Given the description of an element on the screen output the (x, y) to click on. 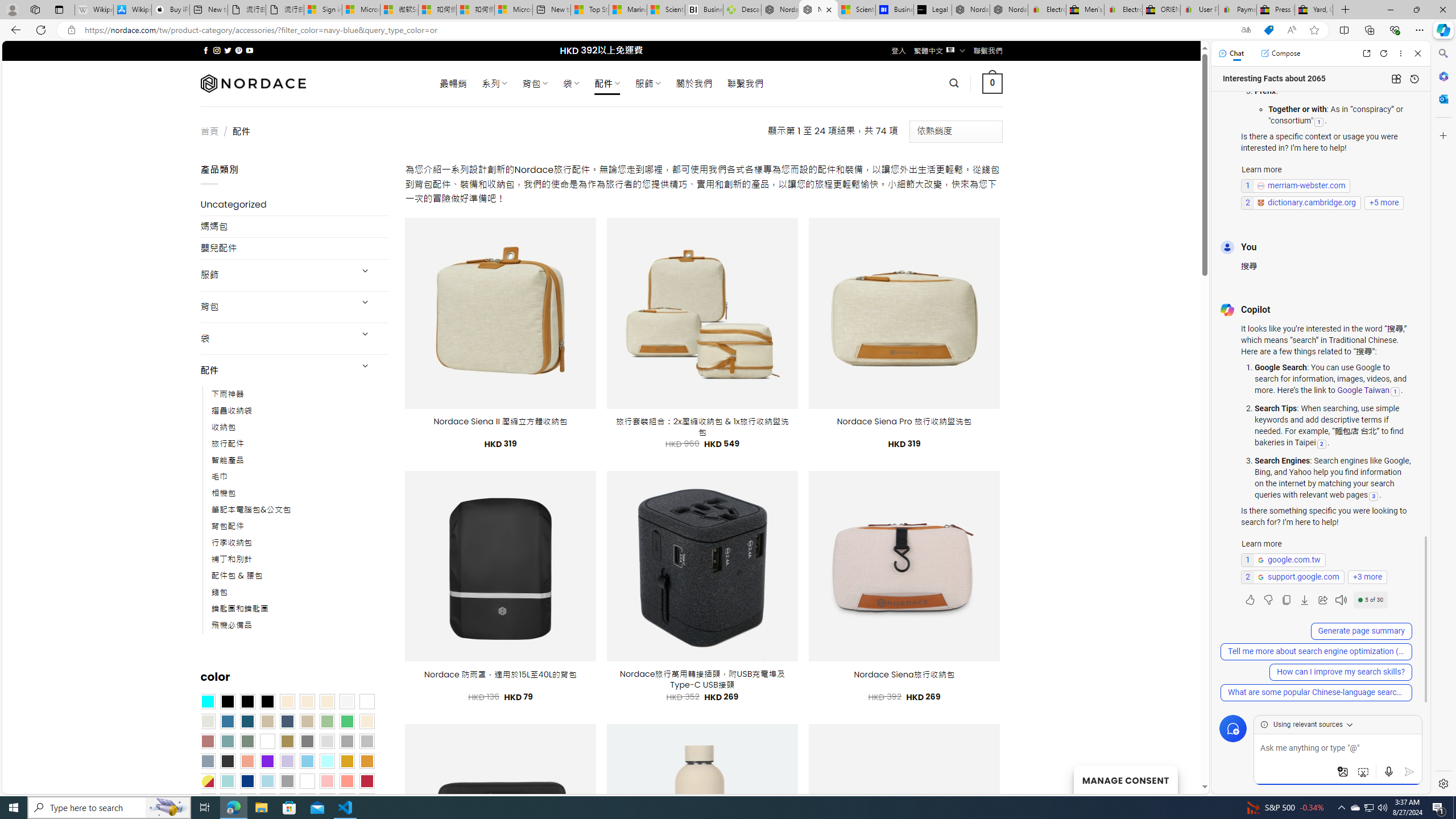
  0   (992, 83)
Uncategorized (294, 204)
